Given the description of an element on the screen output the (x, y) to click on. 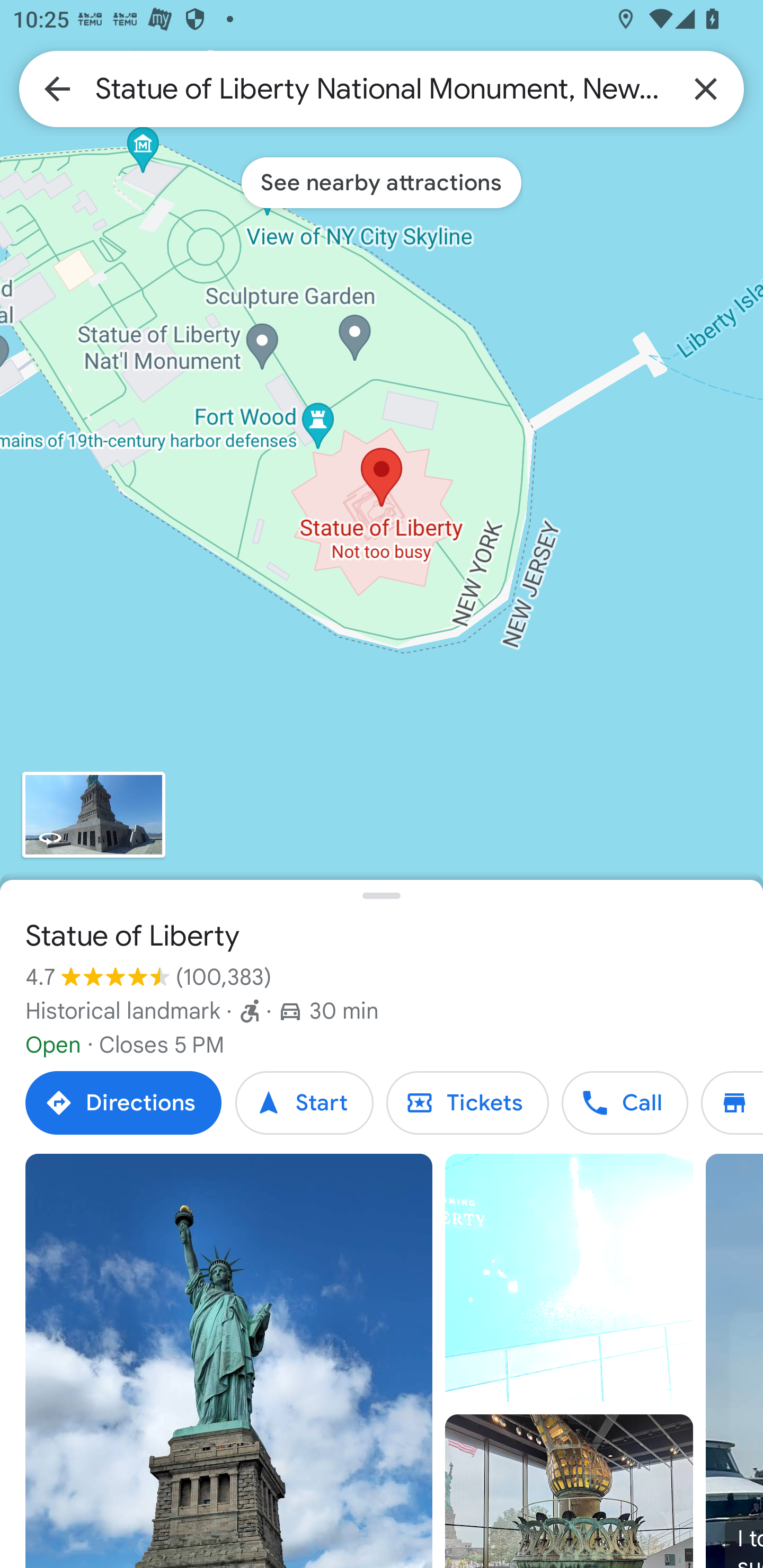
Back (57, 88)
Statue of Liberty National Monument, New York, NY (381, 88)
Clear (705, 88)
See nearby attractions (381, 182)
View Street view imagery for Statue of Liberty (93, 814)
Start Start Start (304, 1102)
Tickets (467, 1102)
Call Statue of Liberty Call Call Statue of Liberty (624, 1102)
Directory Directory Directory (732, 1102)
Photo (228, 1361)
Video (568, 1277)
Photo (568, 1491)
